Given the description of an element on the screen output the (x, y) to click on. 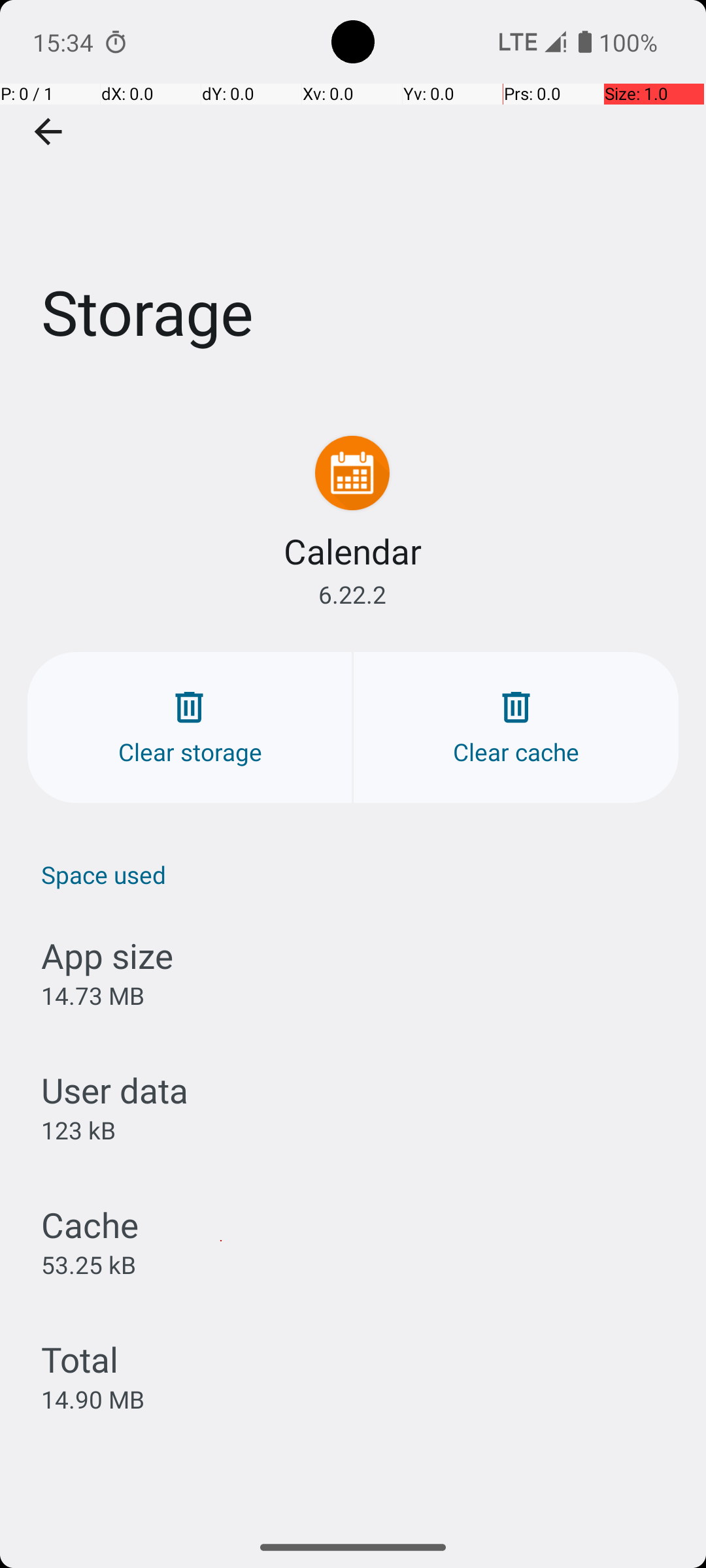
6.22.2 Element type: android.widget.TextView (352, 593)
Clear storage Element type: android.widget.Button (189, 727)
Clear cache Element type: android.widget.Button (515, 727)
Space used Element type: android.widget.TextView (359, 874)
App size Element type: android.widget.TextView (107, 955)
14.73 MB Element type: android.widget.TextView (92, 995)
User data Element type: android.widget.TextView (114, 1089)
123 kB Element type: android.widget.TextView (78, 1129)
Cache Element type: android.widget.TextView (89, 1224)
53.25 kB Element type: android.widget.TextView (88, 1264)
Total Element type: android.widget.TextView (79, 1359)
14.90 MB Element type: android.widget.TextView (92, 1398)
